Given the description of an element on the screen output the (x, y) to click on. 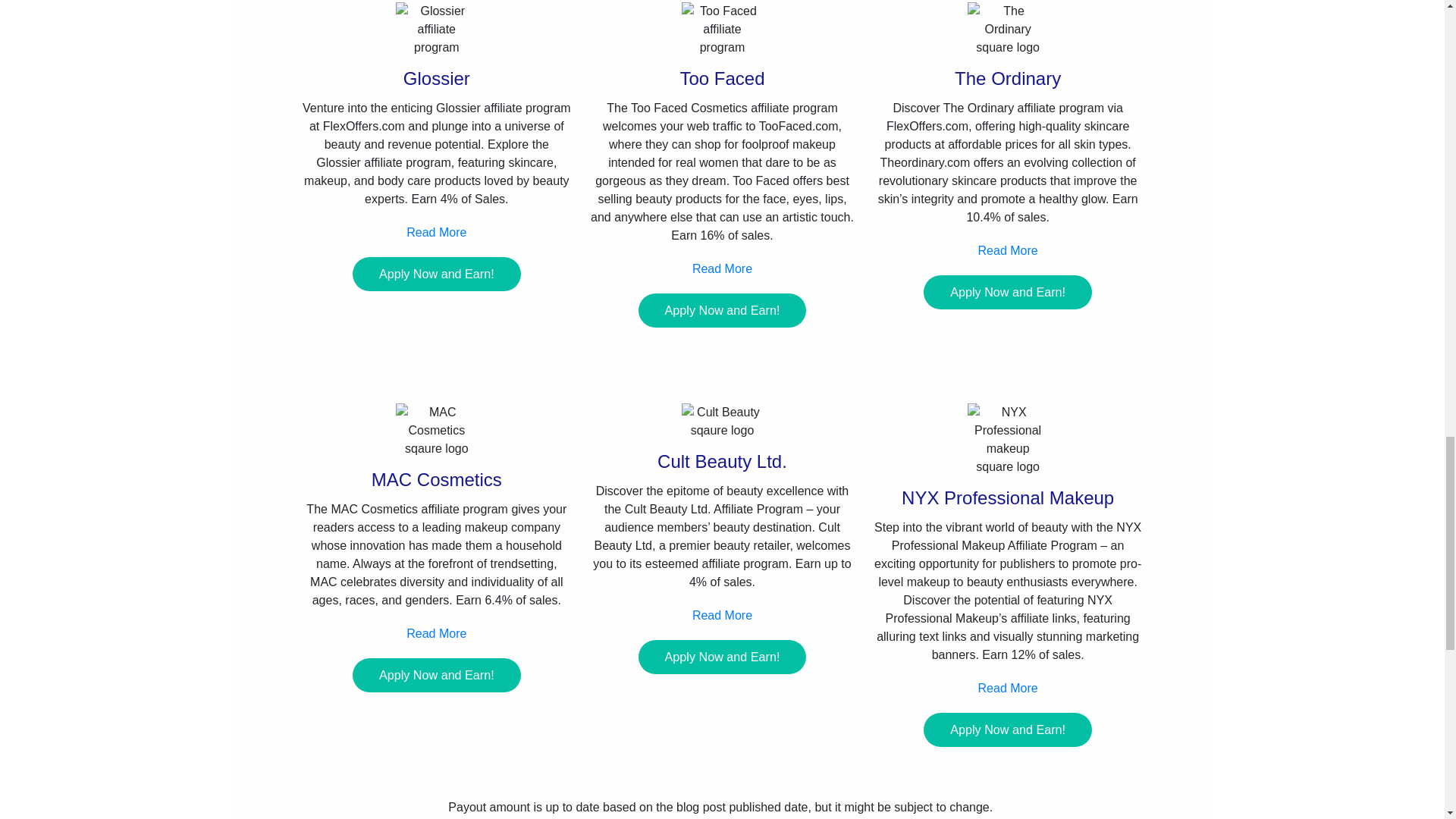
Glossier affiliate program (436, 29)
Too Faced affiliate program (721, 29)
The Ordinary affiliate program (1008, 29)
Cult Beauty Ltd. affiliate program (721, 421)
MAC Cosmetics affiliate program (436, 430)
NYX Professional Makeup affiliate program (1008, 439)
